Given the description of an element on the screen output the (x, y) to click on. 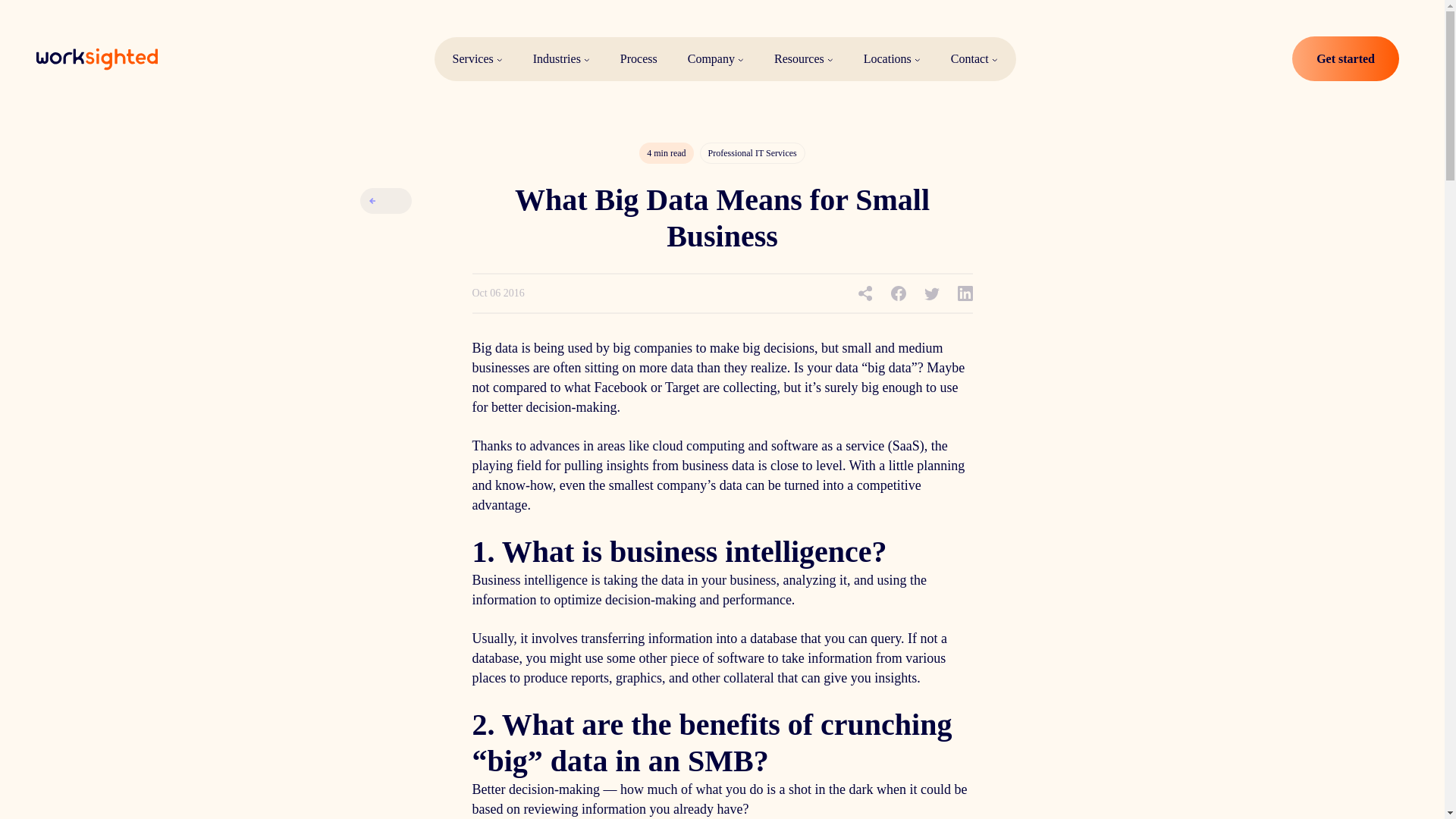
Services (477, 59)
Contact (973, 59)
Process (638, 59)
Resources (803, 59)
Company (716, 59)
Industries (560, 59)
Locations (891, 59)
Get started (1345, 58)
